Given the description of an element on the screen output the (x, y) to click on. 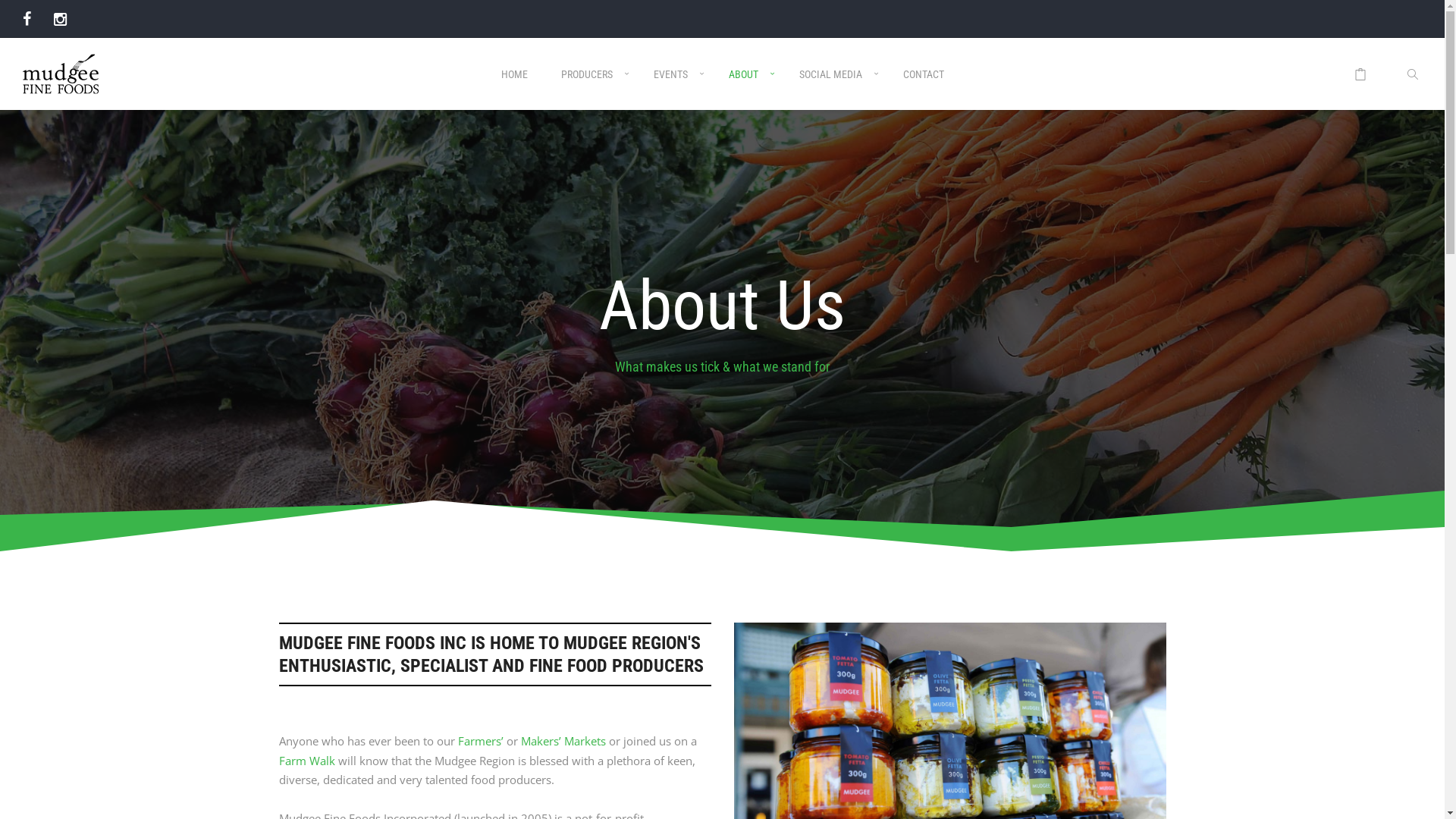
HOME Element type: text (513, 85)
ABOUT Element type: text (746, 85)
Farm Walk Element type: text (307, 760)
Facebook Element type: hover (26, 18)
PRODUCERS Element type: text (590, 85)
SOCIAL MEDIA Element type: text (834, 85)
EVENTS Element type: text (674, 85)
Instagram Element type: hover (59, 18)
CONTACT Element type: text (922, 85)
